Given the description of an element on the screen output the (x, y) to click on. 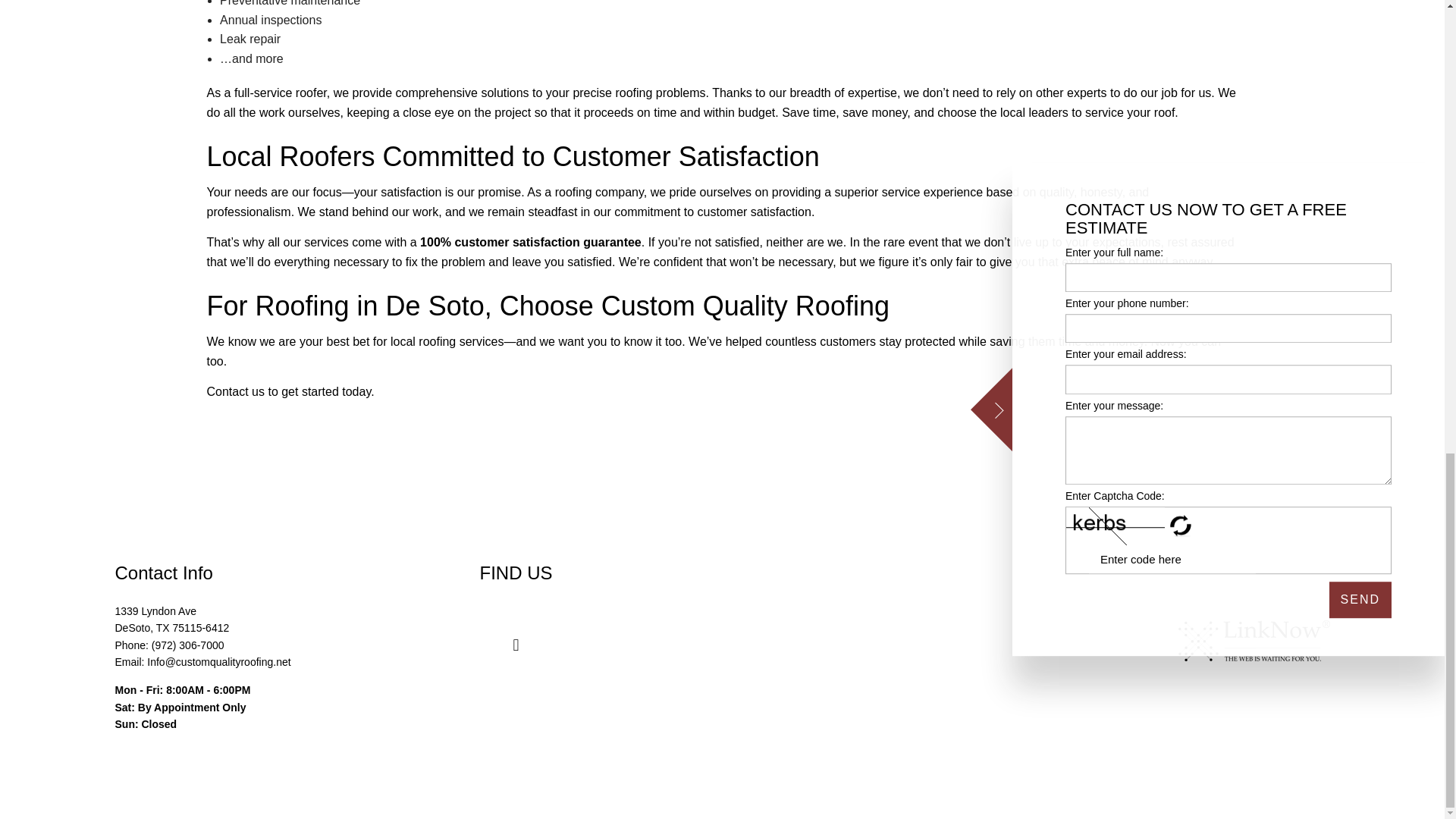
Custom Quality Roofing's Google Maps (514, 645)
